Given the description of an element on the screen output the (x, y) to click on. 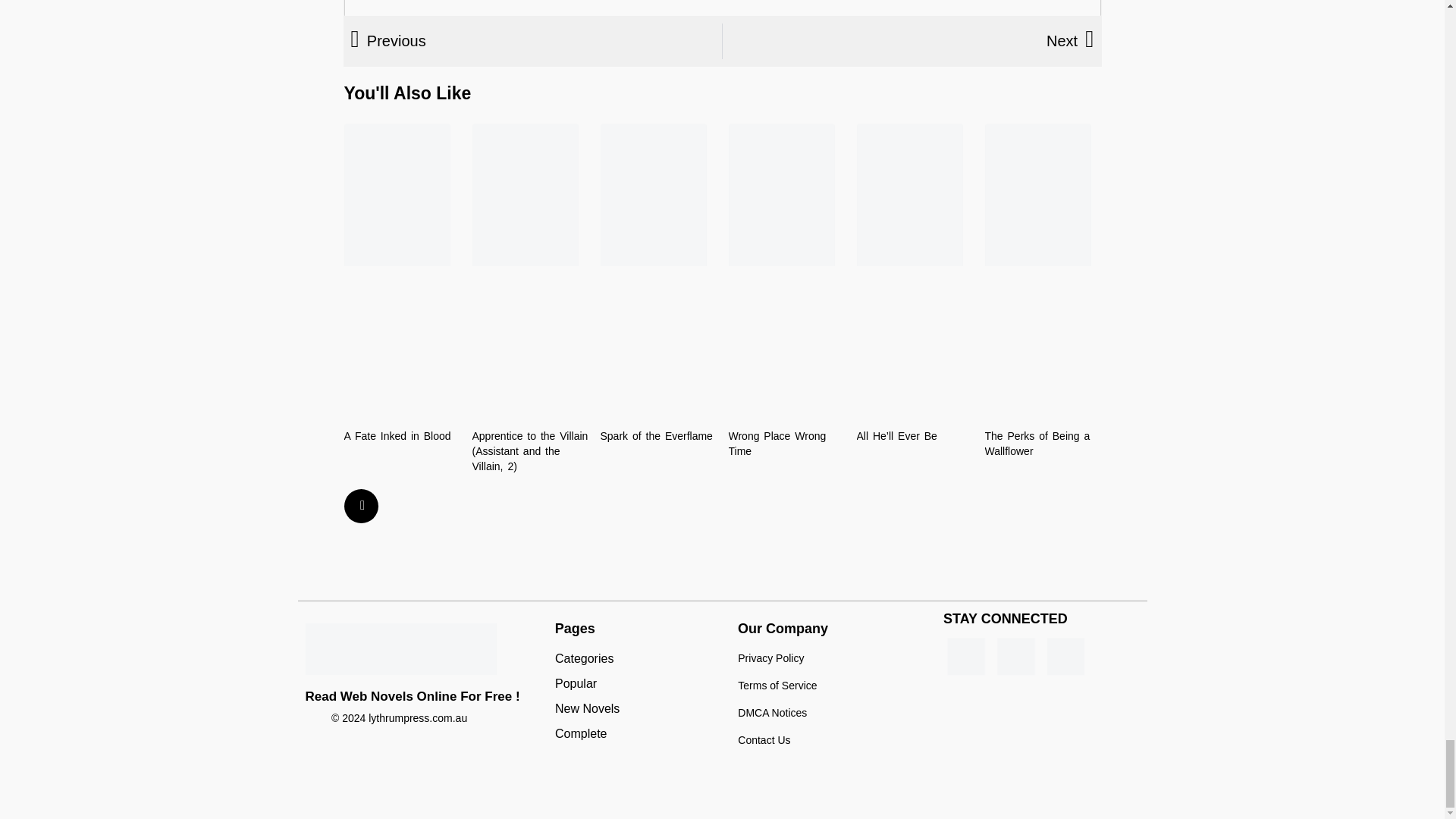
Next (908, 40)
Spark of the Everflame (656, 435)
Previous (536, 40)
A Fate Inked in Blood (397, 435)
The Perks of Being a Wallflower (1036, 443)
Wrong Place Wrong Time (776, 443)
Categories (638, 659)
